Given the description of an element on the screen output the (x, y) to click on. 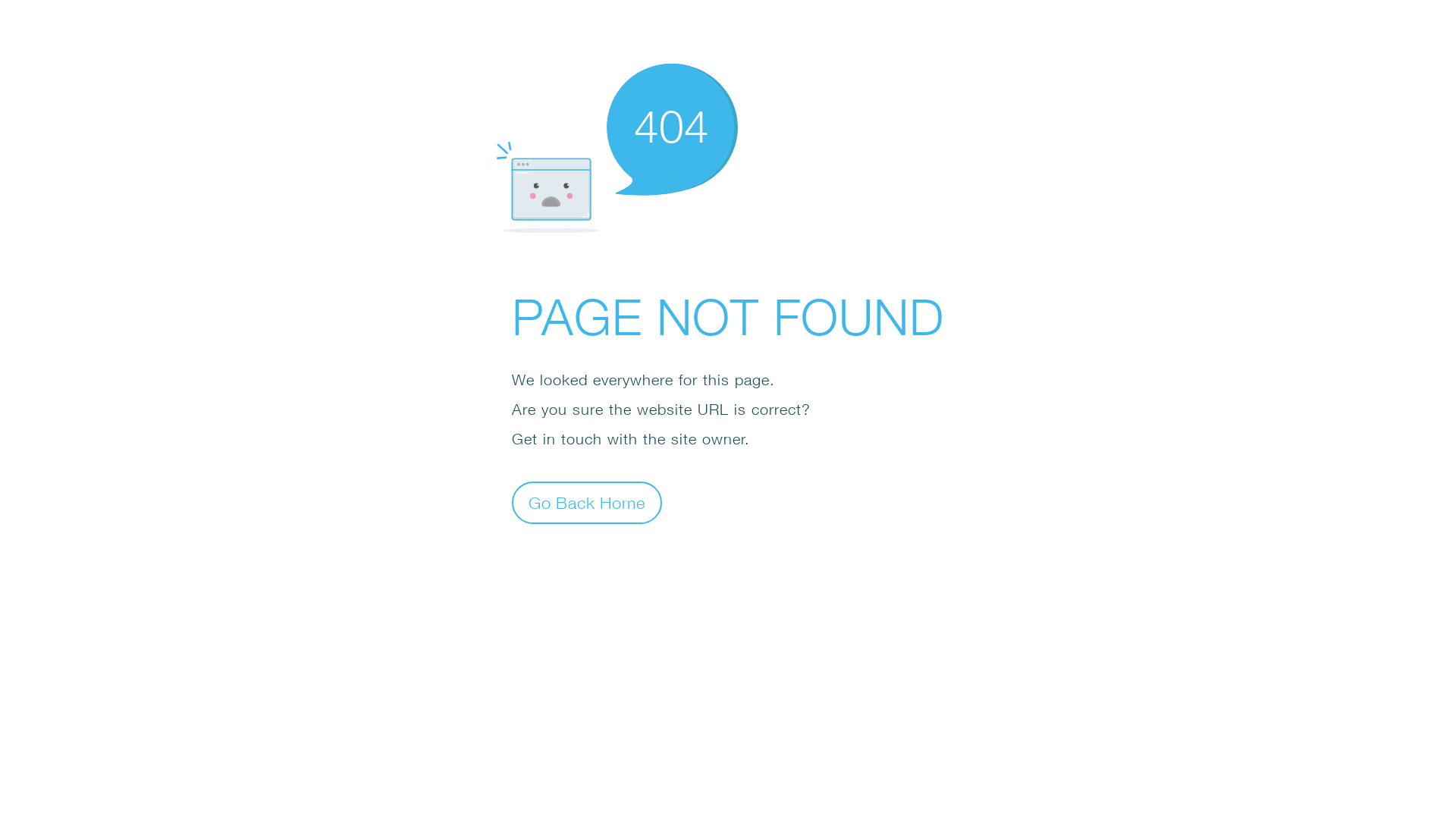
Go Back Home Element type: text (586, 502)
